Given the description of an element on the screen output the (x, y) to click on. 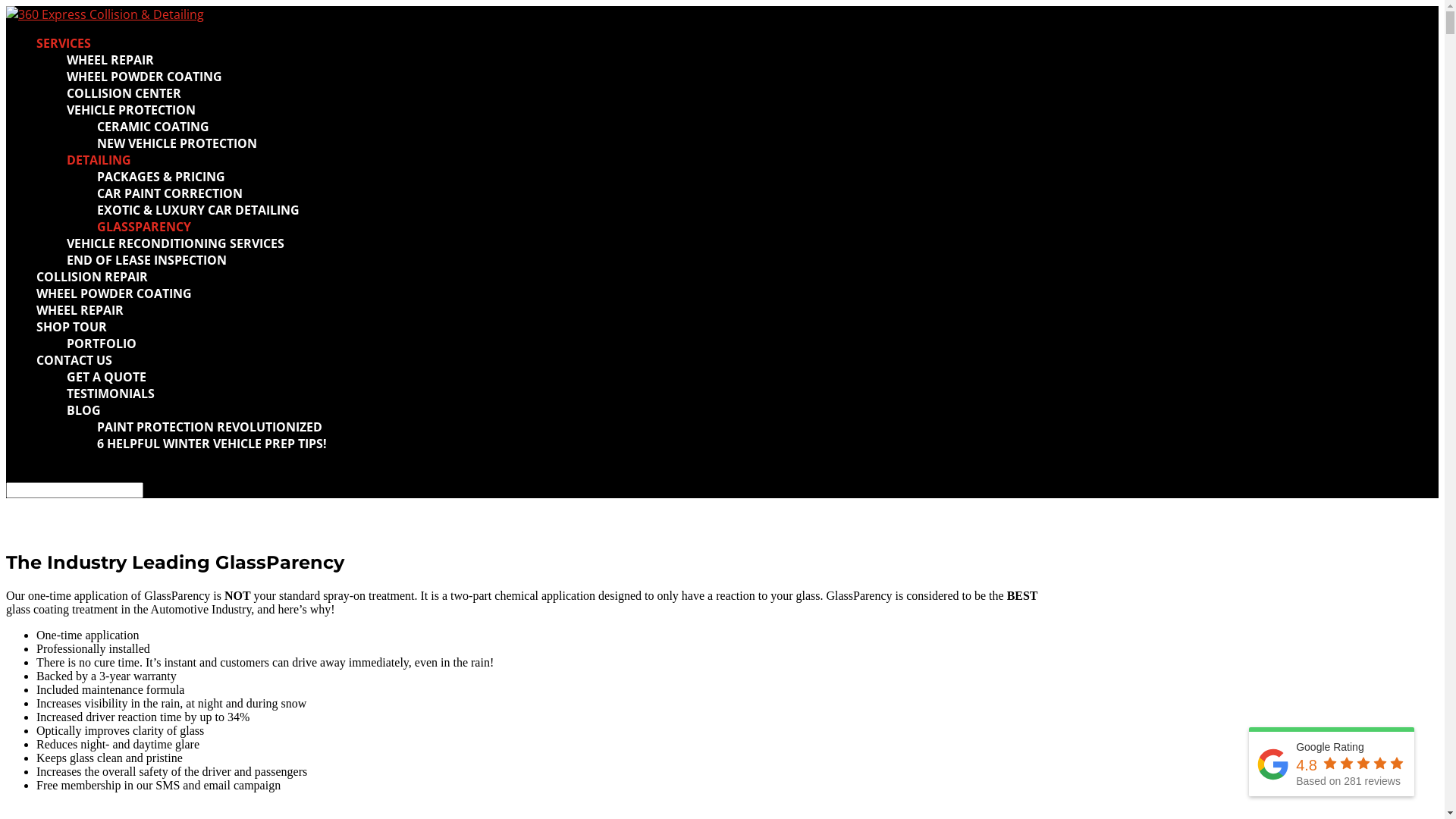
PAINT PROTECTION REVOLUTIONIZED Element type: text (209, 426)
COLLISION CENTER Element type: text (123, 92)
GET A QUOTE Element type: text (106, 376)
GLASSPARENCY Element type: text (144, 226)
VEHICLE RECONDITIONING SERVICES Element type: text (175, 243)
SHOP TOUR Element type: text (71, 326)
PORTFOLIO Element type: text (101, 343)
TESTIMONIALS Element type: text (110, 393)
WHEEL POWDER COATING Element type: text (113, 293)
END OF LEASE INSPECTION Element type: text (146, 259)
6 HELPFUL WINTER VEHICLE PREP TIPS! Element type: text (211, 443)
PACKAGES & PRICING Element type: text (161, 176)
WHEEL POWDER COATING Element type: text (144, 76)
EXOTIC & LUXURY CAR DETAILING Element type: text (198, 209)
DETAILING Element type: text (98, 159)
WHEEL REPAIR Element type: text (109, 59)
NEW VEHICLE PROTECTION Element type: text (177, 142)
CERAMIC COATING Element type: text (153, 126)
SERVICES Element type: text (63, 42)
WHEEL REPAIR Element type: text (79, 309)
COLLISION REPAIR Element type: text (91, 276)
VEHICLE PROTECTION Element type: text (130, 109)
CONTACT US Element type: text (74, 359)
Search for: Element type: hover (74, 490)
CAR PAINT CORRECTION Element type: text (169, 193)
BLOG Element type: text (83, 409)
